Given the description of an element on the screen output the (x, y) to click on. 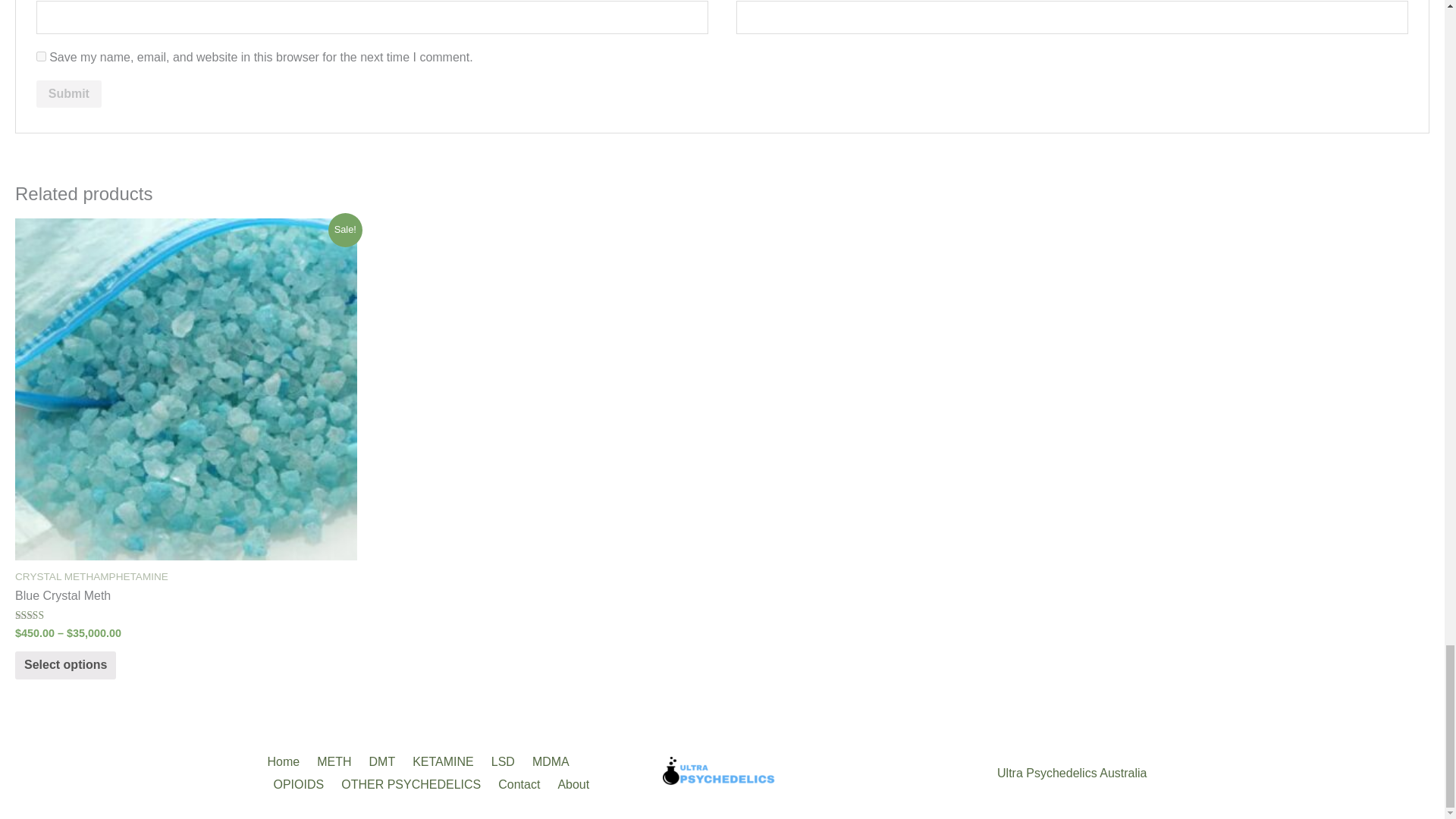
Submit (68, 93)
yes (41, 56)
